Given the description of an element on the screen output the (x, y) to click on. 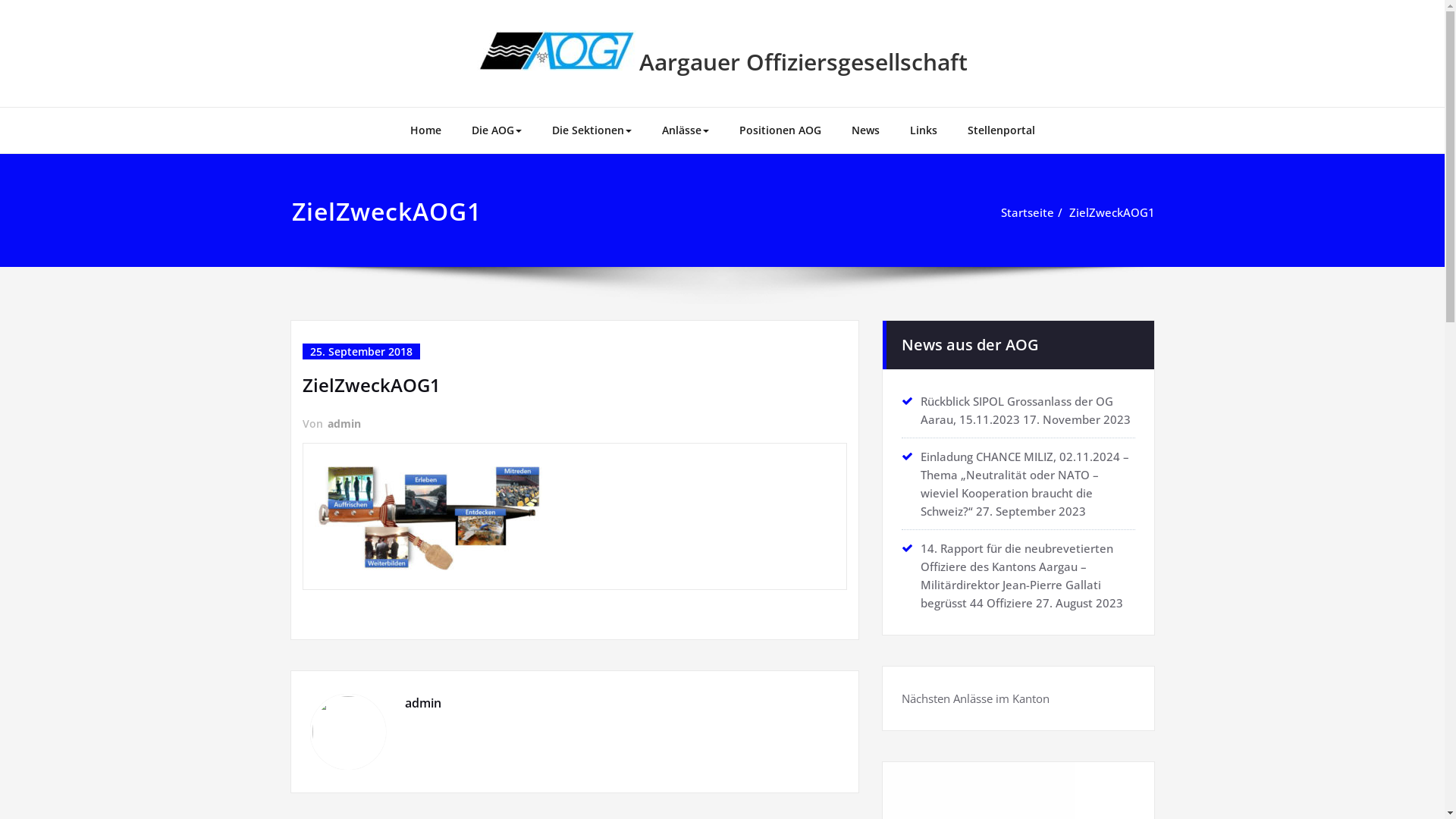
Startseite Element type: text (1027, 211)
Stellenportal Element type: text (1001, 130)
Links Element type: text (923, 130)
ZielZweckAOG1 Element type: text (1111, 211)
Positionen AOG Element type: text (779, 130)
admin Element type: text (343, 423)
Die AOG Element type: text (496, 130)
25. September 2018 Element type: text (360, 351)
News Element type: text (864, 130)
Die Sektionen Element type: text (591, 130)
Home Element type: text (424, 130)
Skip to content Element type: text (0, 0)
Aargauer Offiziersgesellschaft Element type: text (803, 61)
